Given the description of an element on the screen output the (x, y) to click on. 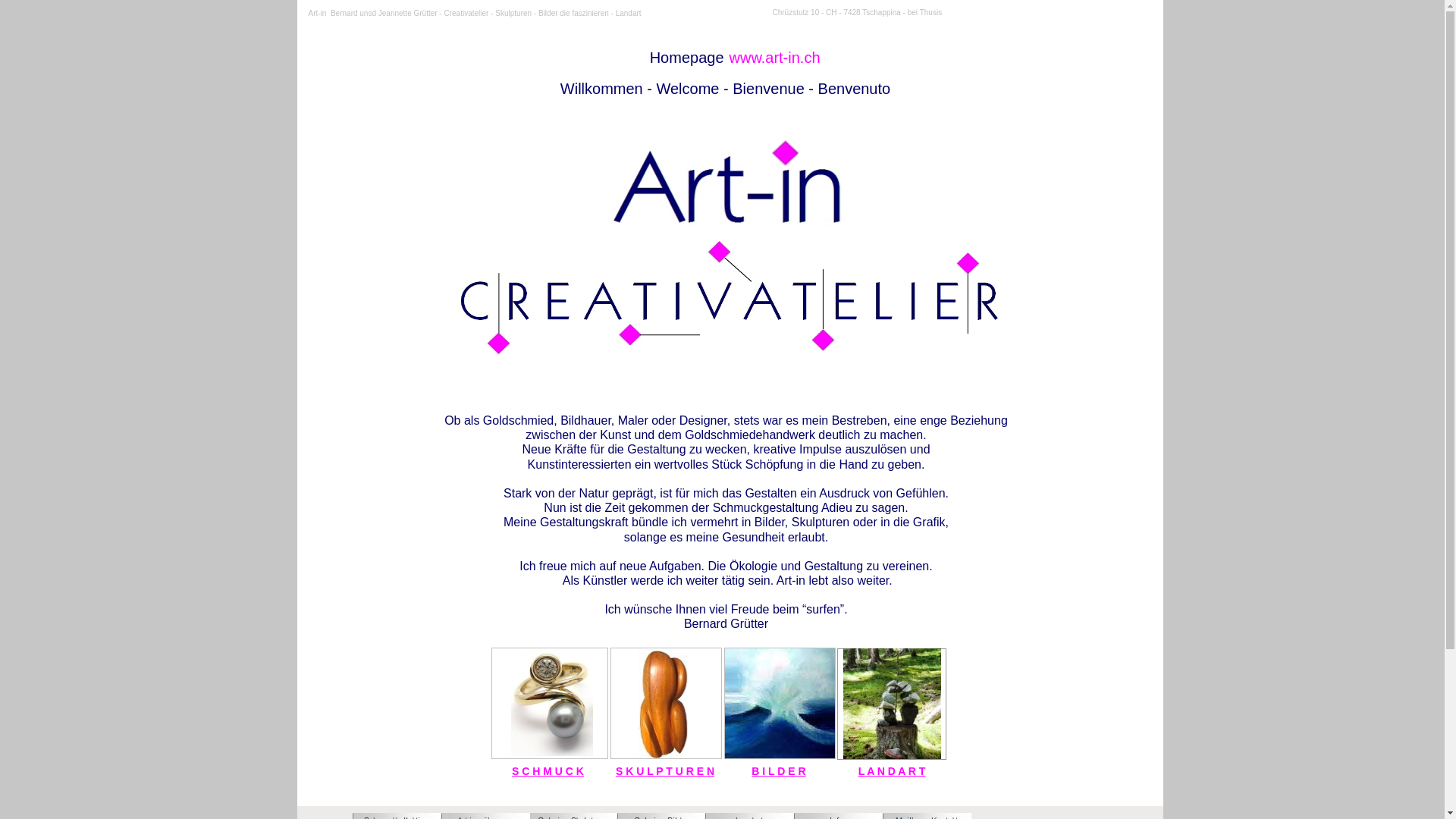
 Zur Schnuckkollektion Element type: hover (552, 702)
B I L D E R Element type: text (778, 771)
Zu den Skulpturen Element type: hover (663, 703)
S C H M U C K Element type: text (547, 771)
Landart Element type: hover (892, 703)
S K U L P T U R E N Element type: text (664, 771)
Bild kl Creativatelier Element type: hover (726, 297)
L A N D A R T Element type: text (891, 771)
Logo kl art-in 2019 Element type: hover (725, 183)
